Given the description of an element on the screen output the (x, y) to click on. 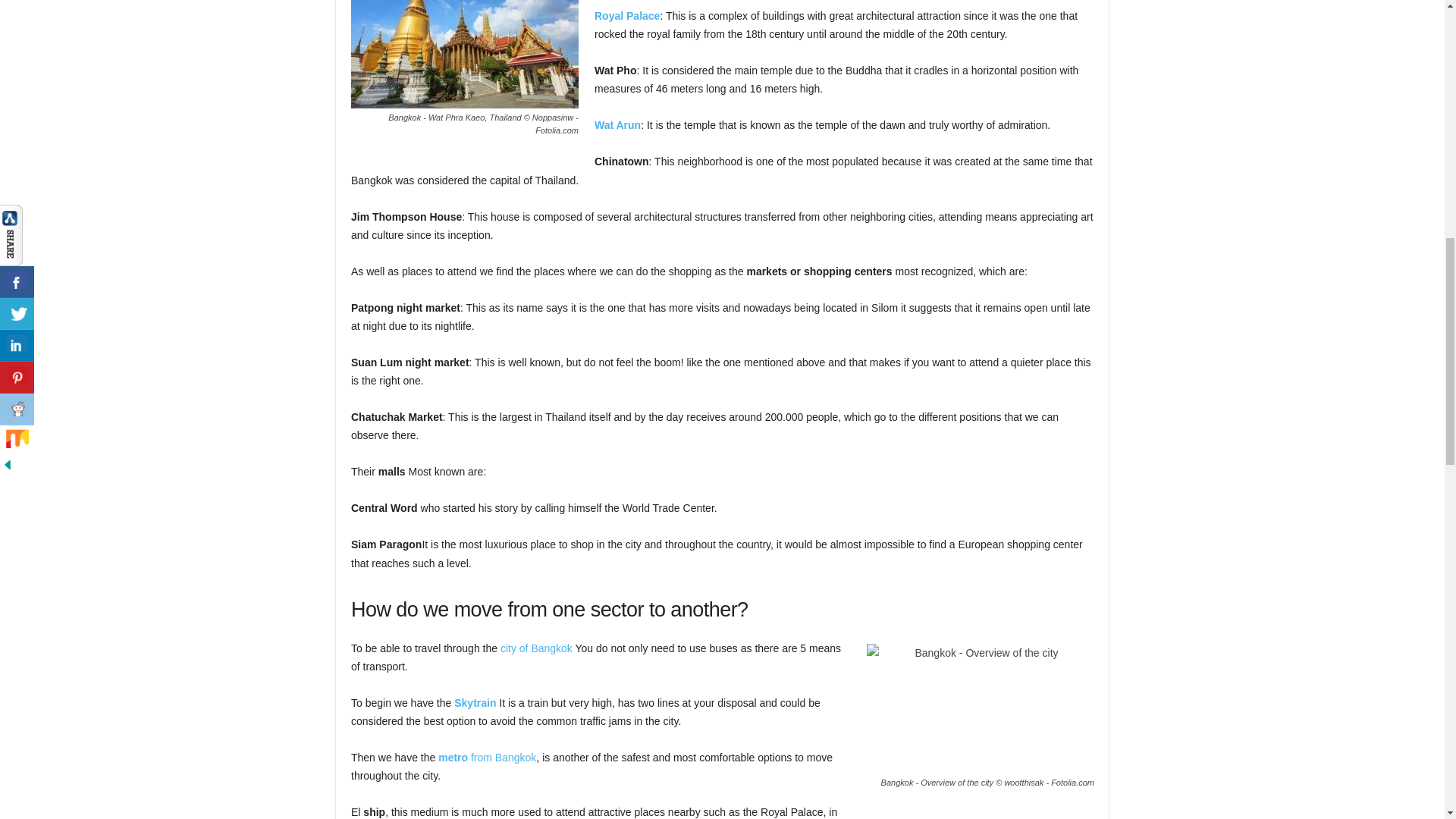
Royal Palace (626, 15)
Skytrain (475, 702)
city of Bangkok (536, 648)
metro from Bangkok (486, 757)
Wat Arun (617, 124)
